Given the description of an element on the screen output the (x, y) to click on. 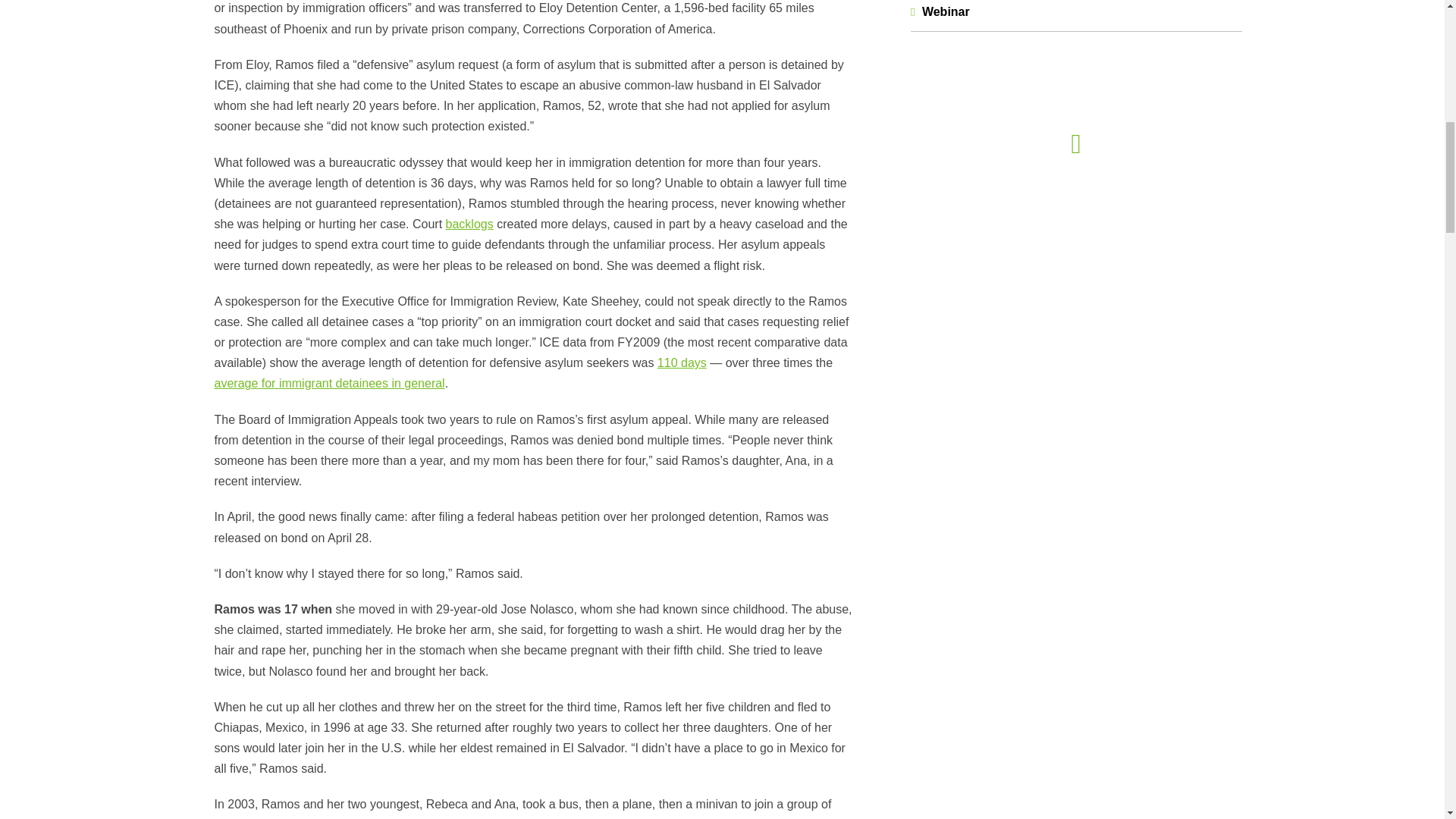
average for immigrant detainees in general (329, 382)
backlogs (469, 223)
110 days (682, 362)
